Given the description of an element on the screen output the (x, y) to click on. 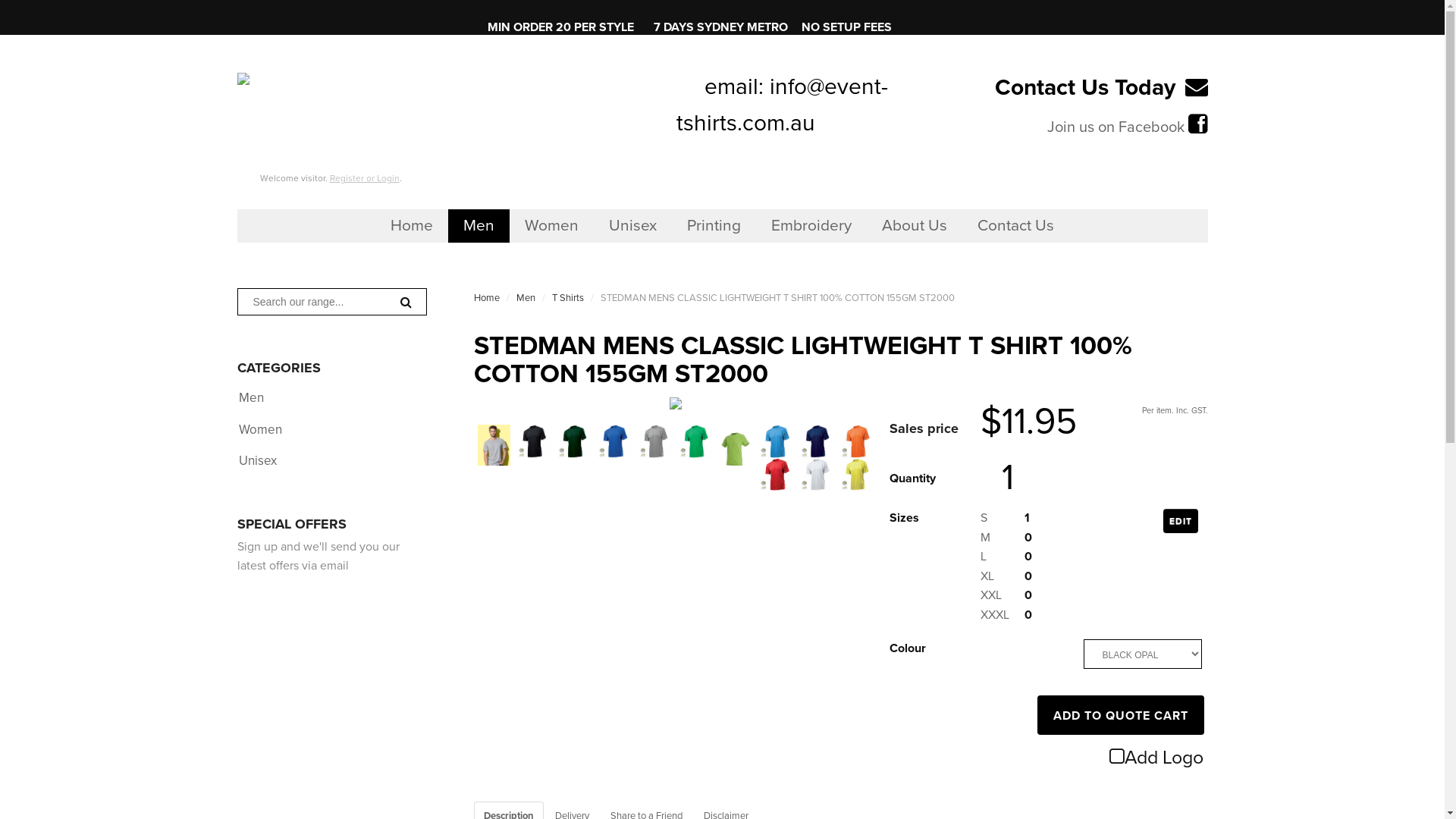
Women Element type: text (551, 225)
T Shirts Element type: text (567, 297)
Join us on Facebook Element type: text (1114, 127)
YELLOW Element type: hover (856, 474)
WHITE Element type: hover (816, 474)
Men Element type: text (478, 225)
Women Element type: text (259, 429)
info@event-tshirts.com.au Element type: text (782, 104)
Unisex Element type: text (632, 225)
  Element type: hover (675, 402)
  Element type: hover (493, 448)
BOTTLE GREEN Element type: hover (574, 440)
Contact Us Today Element type: text (1084, 87)
GREY HEATHER Element type: hover (655, 440)
Add to Quote Cart Element type: text (1120, 714)
Add to Quote Cart Element type: hover (1120, 714)
About Us Element type: text (914, 225)
Register or Login Element type: text (363, 177)
KIWI Element type: hover (735, 448)
Men Element type: text (525, 297)
SCARLET RED Element type: hover (775, 474)
Unisex Element type: text (257, 460)
BRIGHT ROYAL Element type: hover (614, 440)
Home Element type: text (486, 297)
LIGHT BLUE Element type: hover (775, 440)
ORANGE Element type: hover (856, 440)
Contact Us Element type: text (1015, 225)
Men Element type: text (250, 397)
NAVY Element type: hover (816, 440)
Log in Element type: text (607, 268)
EDIT Element type: text (1180, 520)
Printing Element type: text (713, 225)
Home Element type: text (411, 225)
KELLY GREEN Element type: hover (695, 440)
BLACK OPAL Element type: hover (533, 440)
Embroidery Element type: text (811, 225)
